Given the description of an element on the screen output the (x, y) to click on. 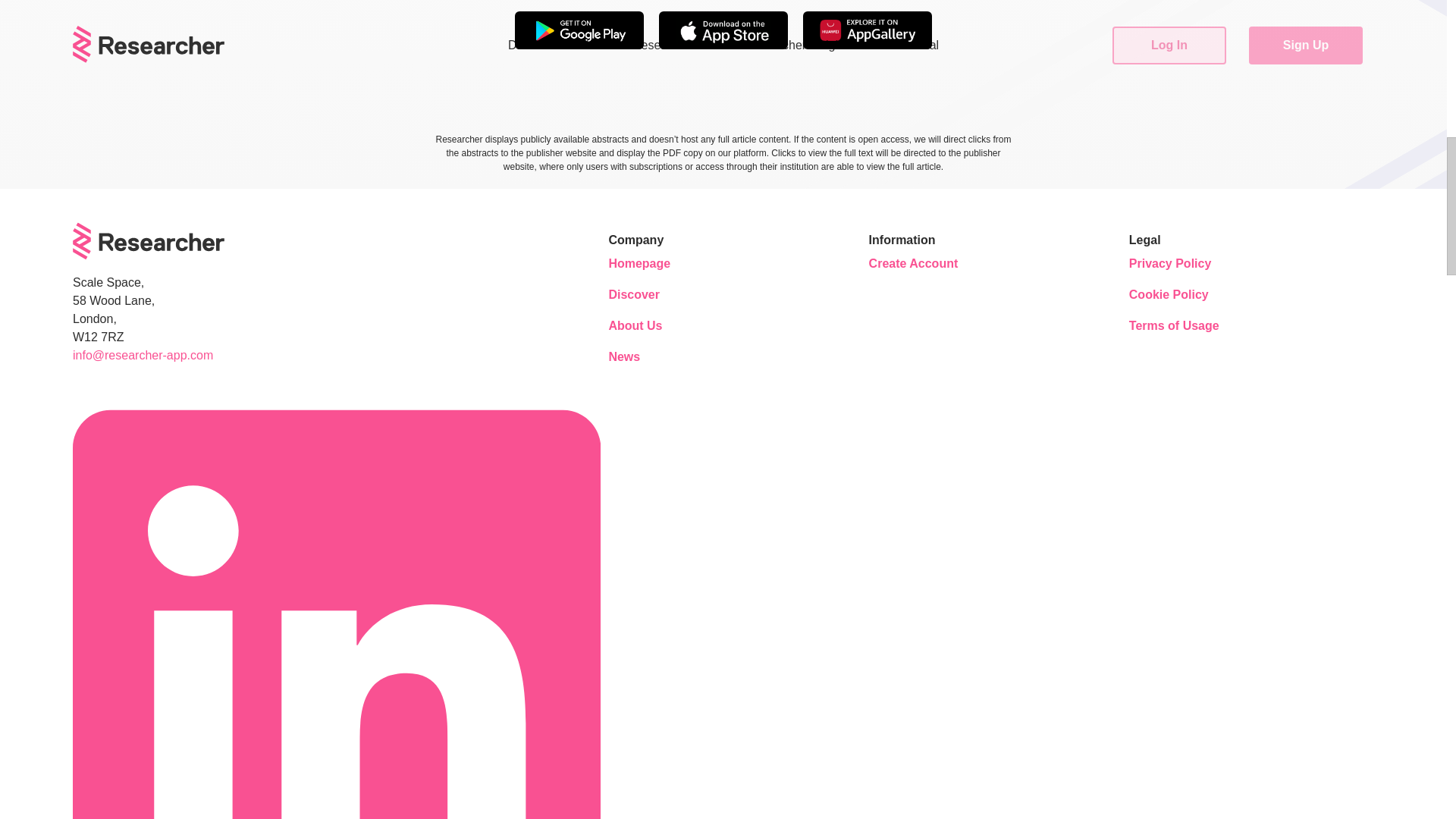
Cookie Policy (1173, 294)
Homepage (653, 263)
Create Account (914, 263)
About Us (653, 325)
Terms of Usage (1173, 325)
News (653, 357)
Discover (653, 294)
Privacy Policy (1173, 263)
